Given the description of an element on the screen output the (x, y) to click on. 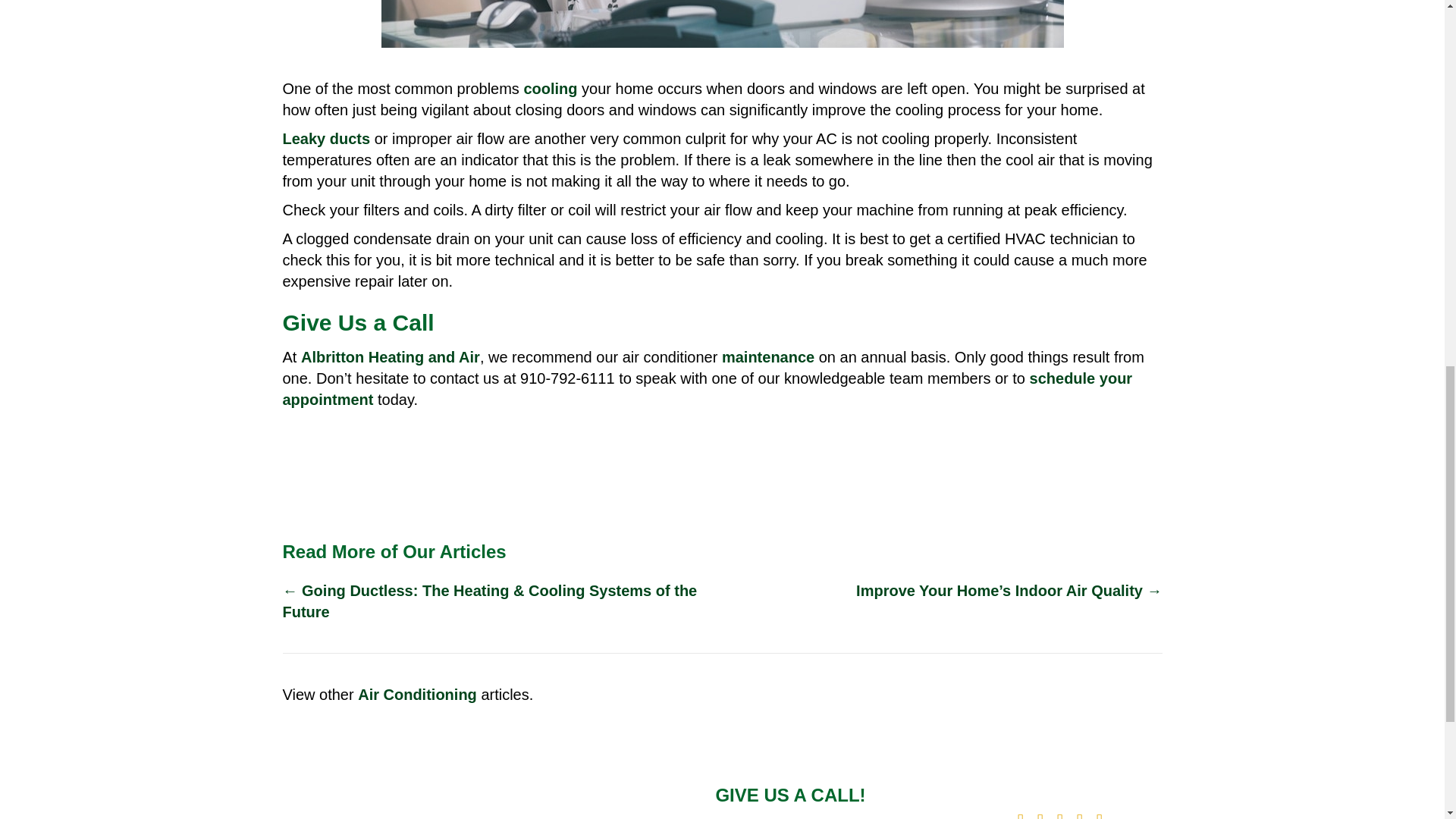
maintenance (767, 356)
Woman suffers from heat in the office or at home (721, 23)
Albritton Heating and Air (390, 356)
schedule your appointment (707, 388)
cooling (549, 88)
Leaky ducts (325, 138)
